Given the description of an element on the screen output the (x, y) to click on. 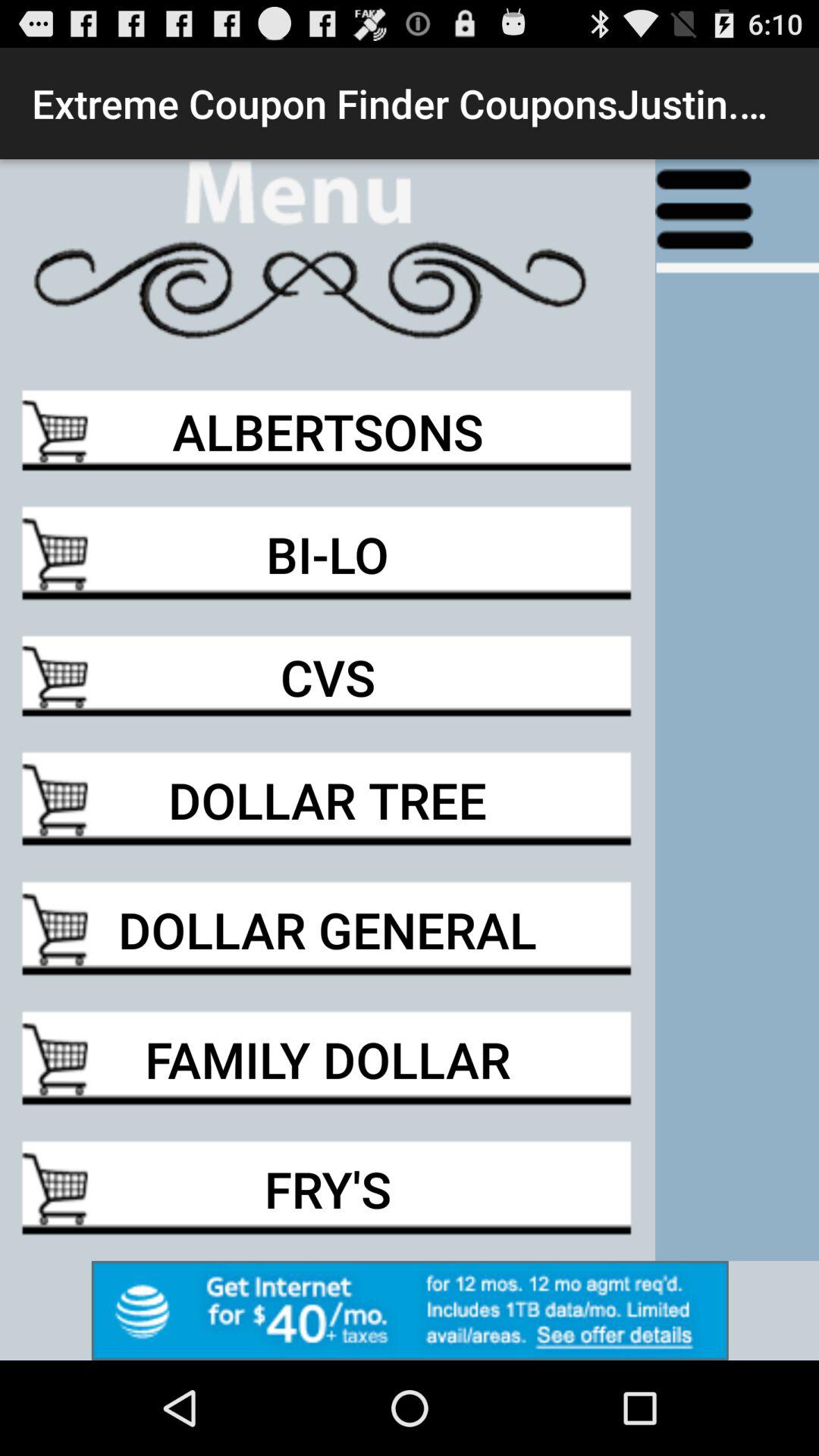
toggle to advertisement box (409, 1310)
